Given the description of an element on the screen output the (x, y) to click on. 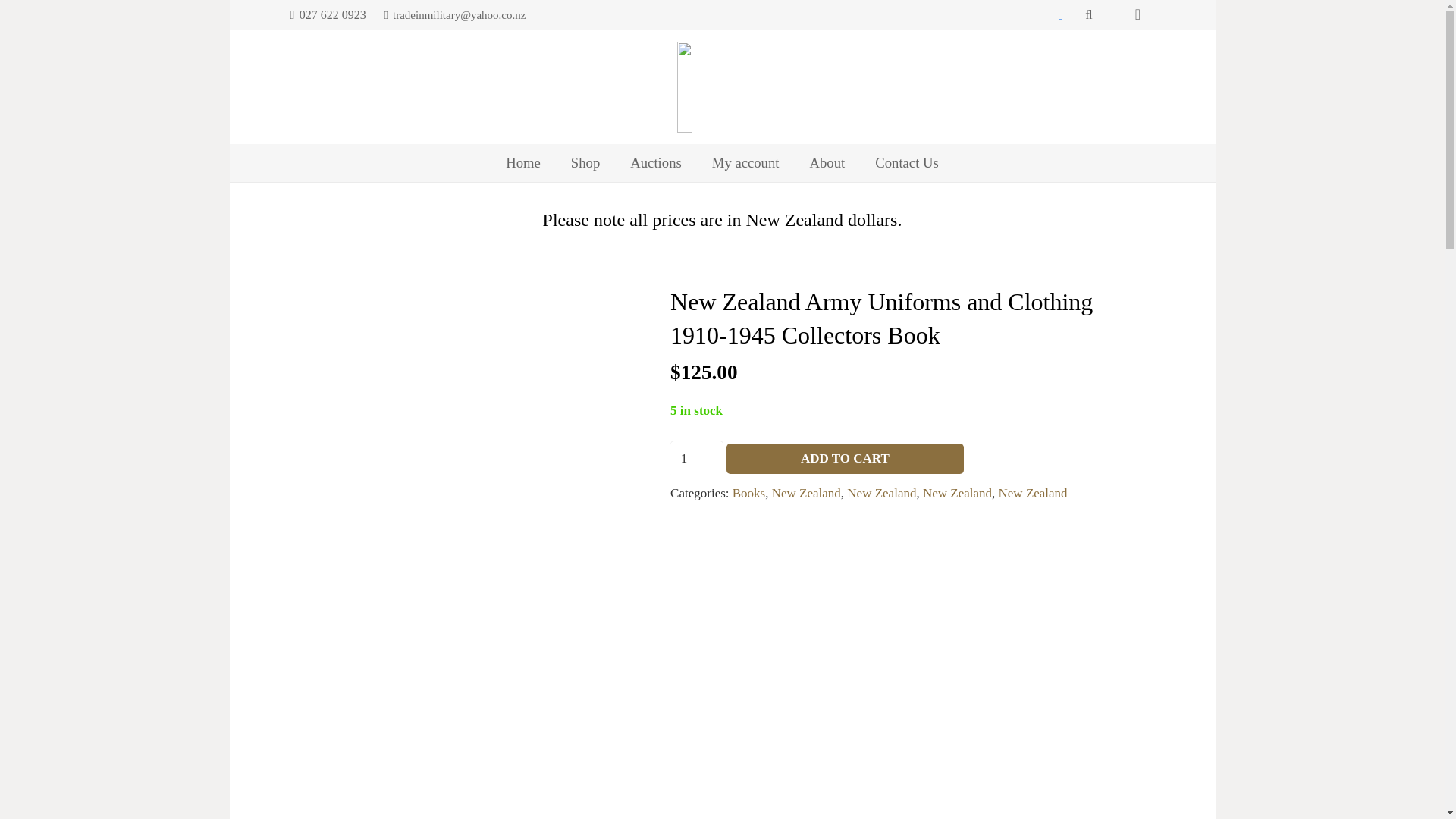
Shop (585, 162)
About (827, 162)
Auctions (654, 162)
New Zealand (881, 493)
New Zealand (957, 493)
Facebook (1060, 14)
ADD TO CART (844, 458)
My account (745, 162)
New Zealand (1032, 493)
Contact Us (906, 162)
